Given the description of an element on the screen output the (x, y) to click on. 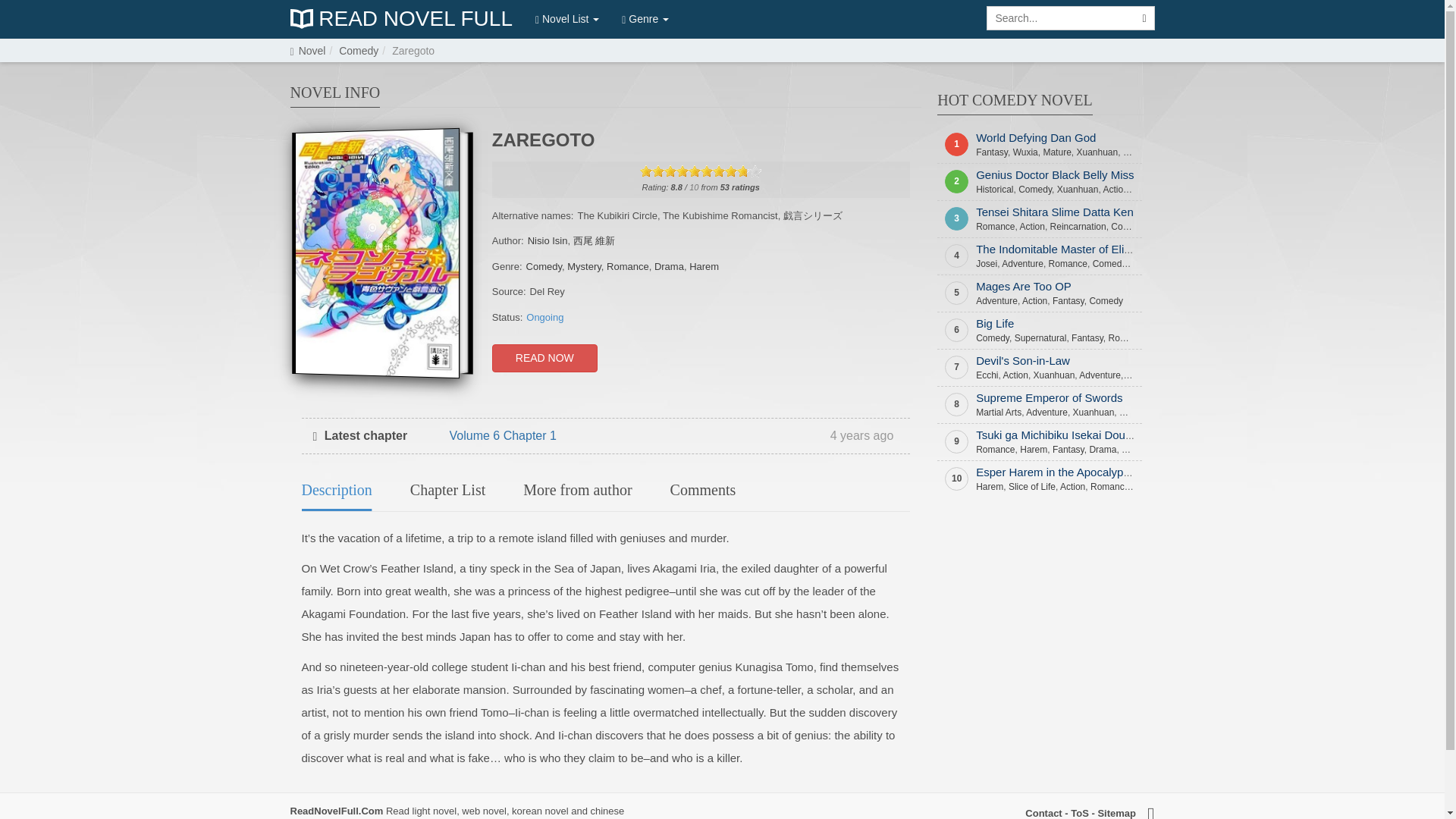
Novel List (567, 18)
Read Novel Full (400, 19)
Genre (644, 18)
READ NOVEL FULL (400, 19)
